Given the description of an element on the screen output the (x, y) to click on. 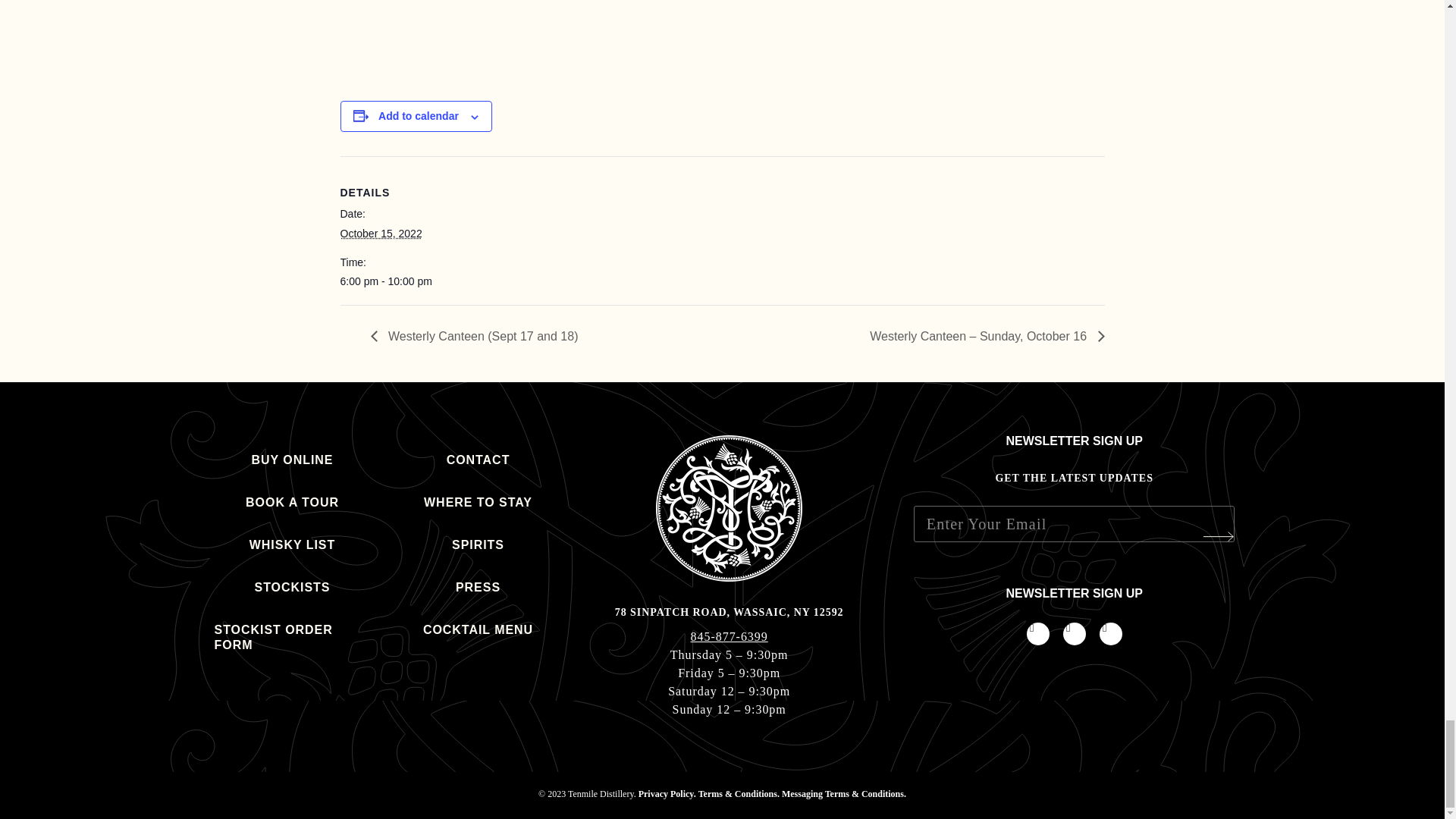
Add to calendar (418, 115)
2022-10-15 (380, 233)
2022-10-15 (403, 281)
